Given the description of an element on the screen output the (x, y) to click on. 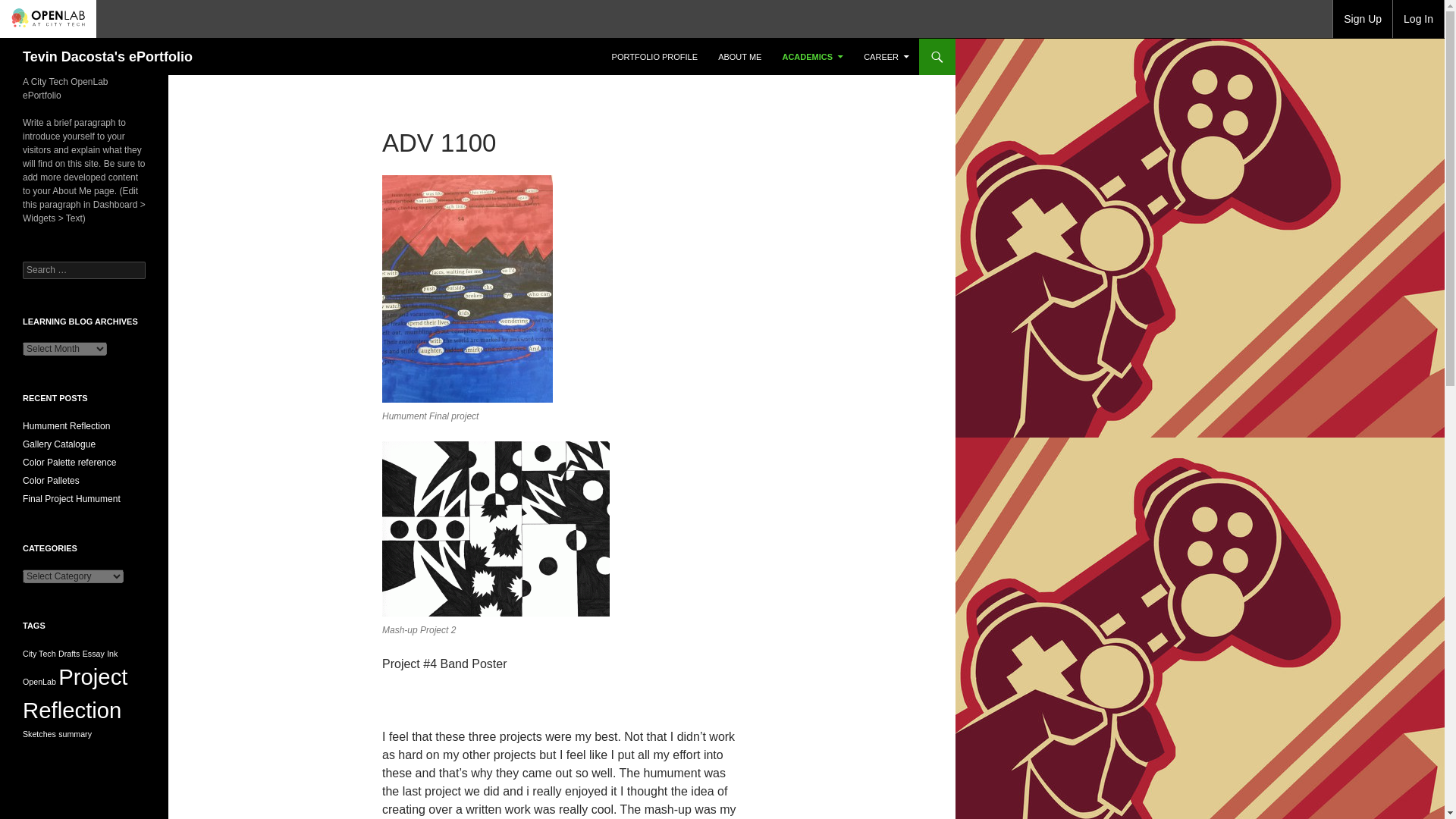
Site (654, 55)
CAREER (886, 55)
ABOUT ME (739, 55)
ACADEMICS (812, 55)
Sign Up (1362, 18)
Tevin Dacosta's ePortfolio (107, 55)
PORTFOLIO PROFILE (654, 55)
